Given the description of an element on the screen output the (x, y) to click on. 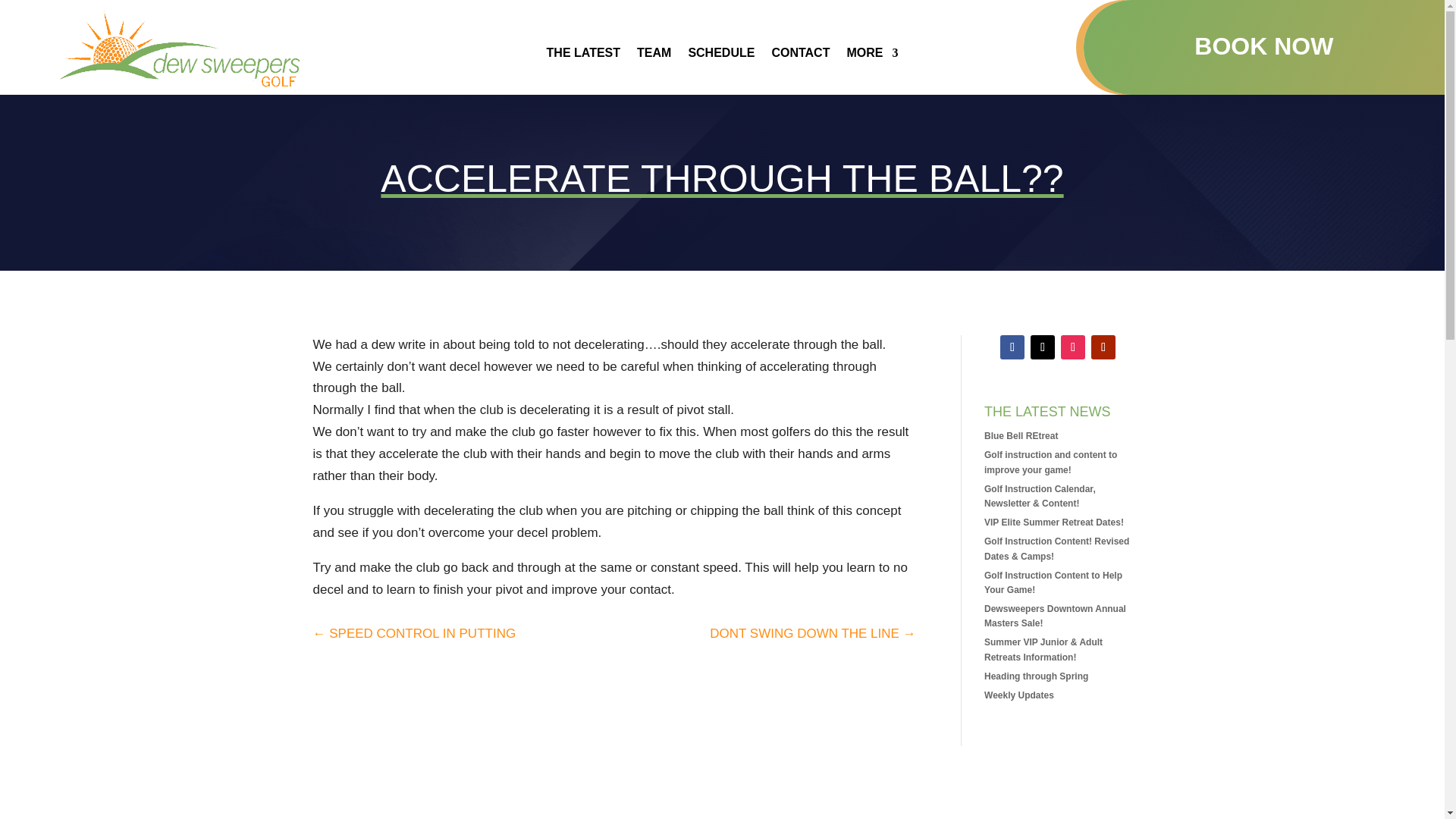
CONTACT (800, 55)
Golf instruction and content to improve your game! (1050, 462)
Golf Instruction Content to Help Your Game! (1053, 582)
VIP Elite Summer Retreat Dates! (1054, 521)
Dewsweepers Downtown Annual Masters Sale! (1054, 615)
Follow on Twitter (1042, 346)
Blue Bell REtreat (1021, 435)
Follow on Instagram (1072, 346)
Dew-Sweepers-Golf-logo (180, 49)
Follow on Facebook (1012, 346)
Follow on Youtube (1102, 346)
TEAM (654, 55)
THE LATEST (583, 55)
SCHEDULE (720, 55)
MORE (871, 55)
